Given the description of an element on the screen output the (x, y) to click on. 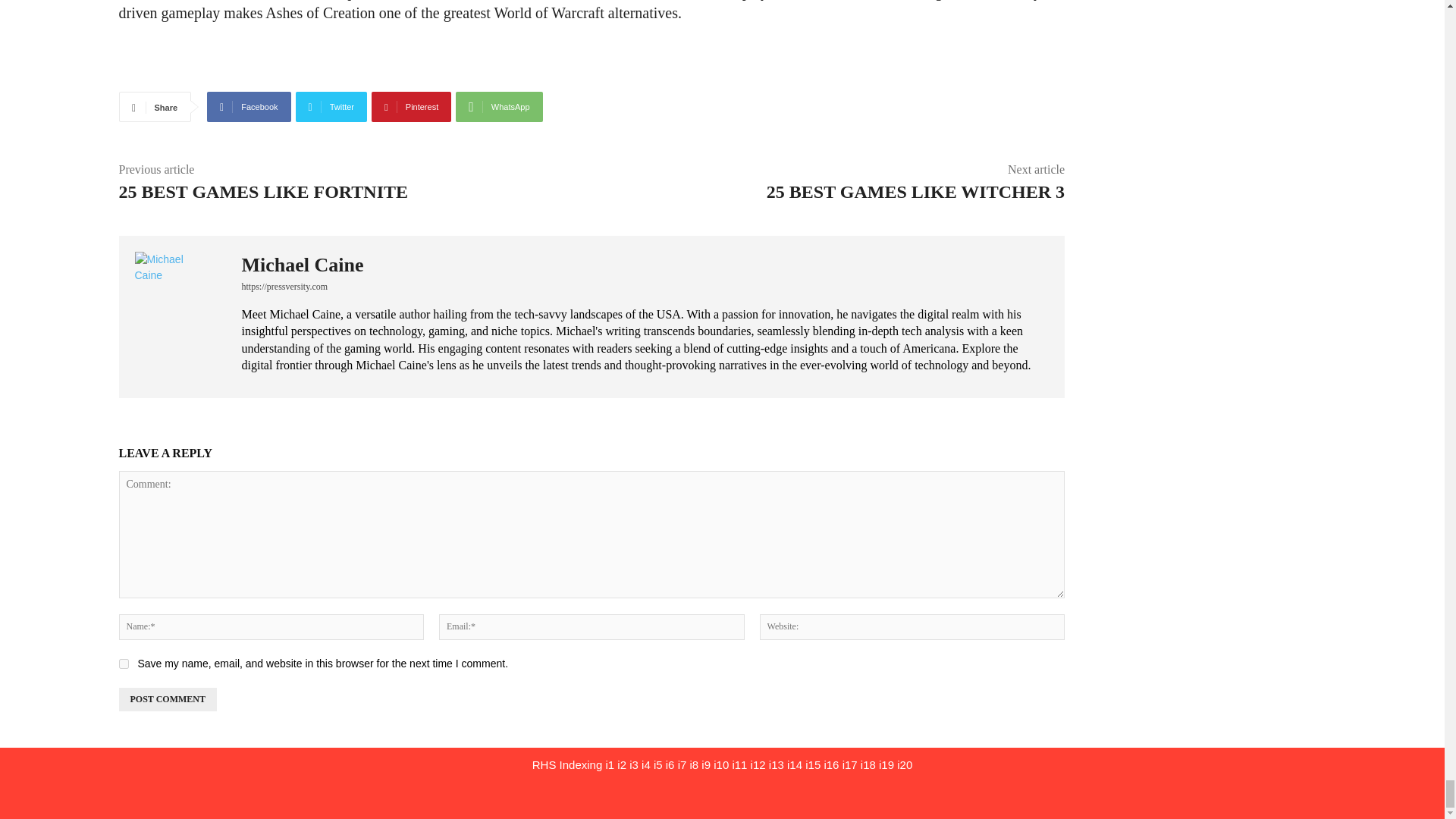
yes (122, 664)
Post Comment (166, 699)
